Given the description of an element on the screen output the (x, y) to click on. 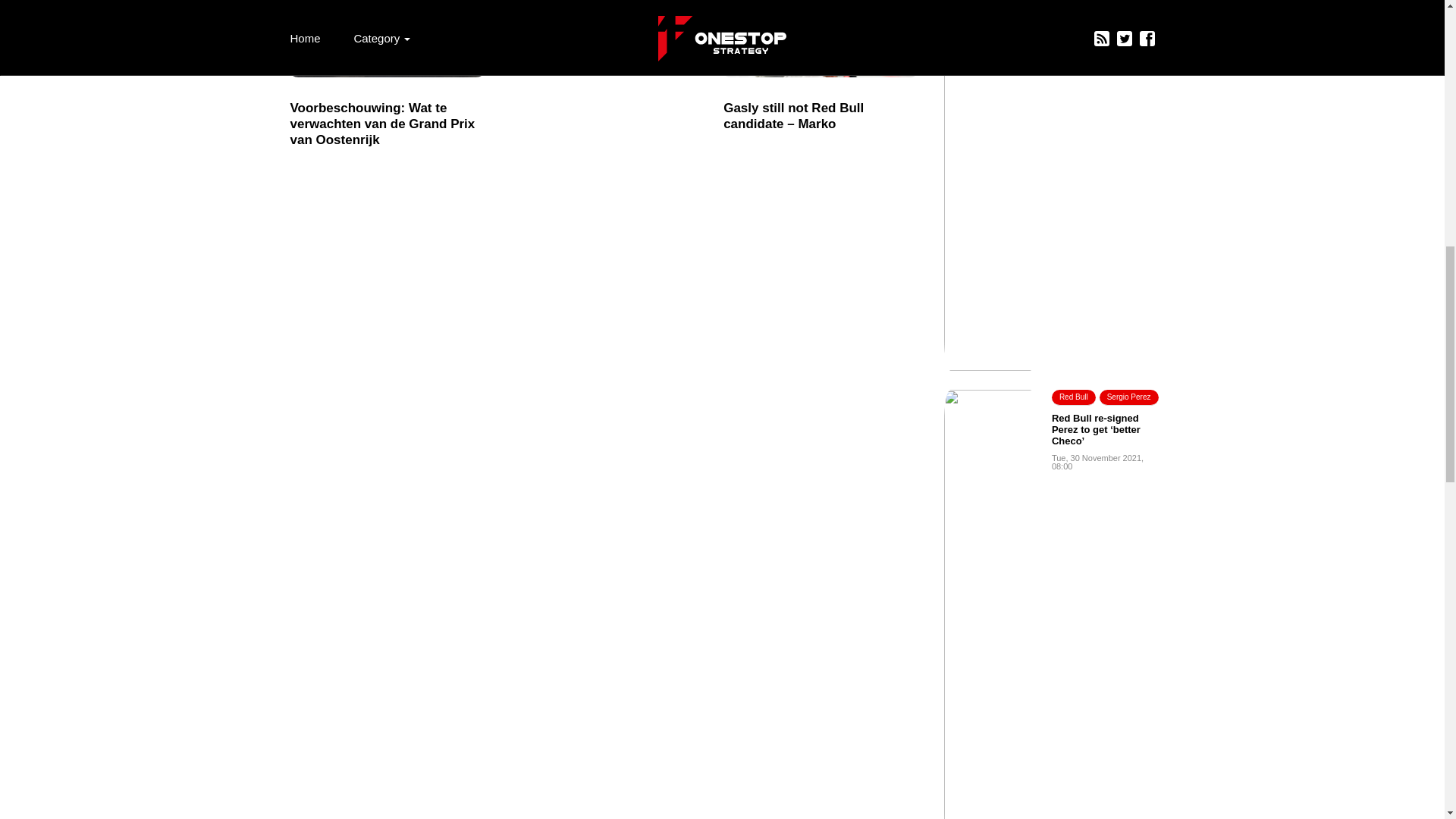
Sergio Perez (1128, 397)
Red Bull (1073, 397)
